Given the description of an element on the screen output the (x, y) to click on. 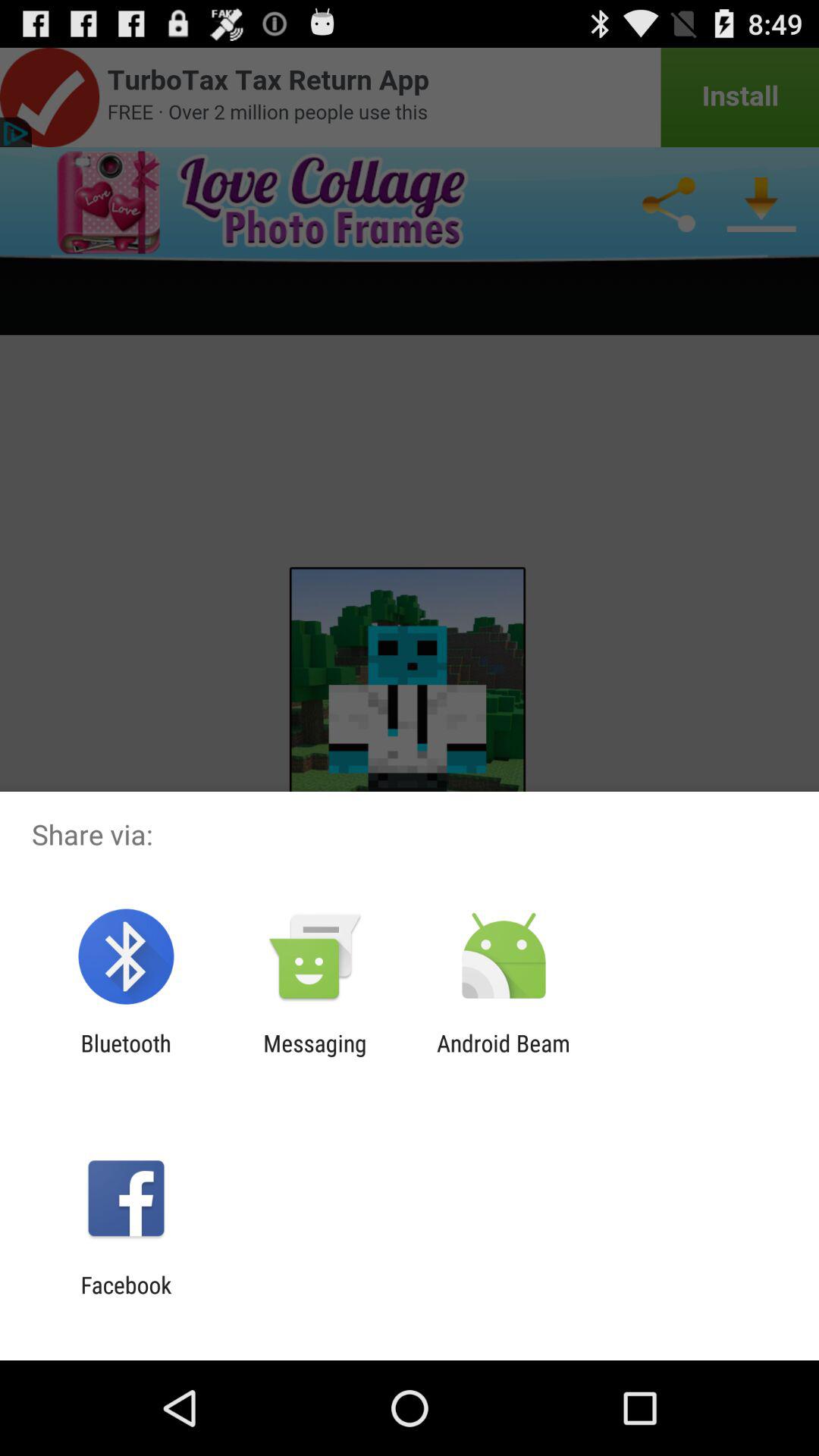
click app next to the messaging (125, 1056)
